Given the description of an element on the screen output the (x, y) to click on. 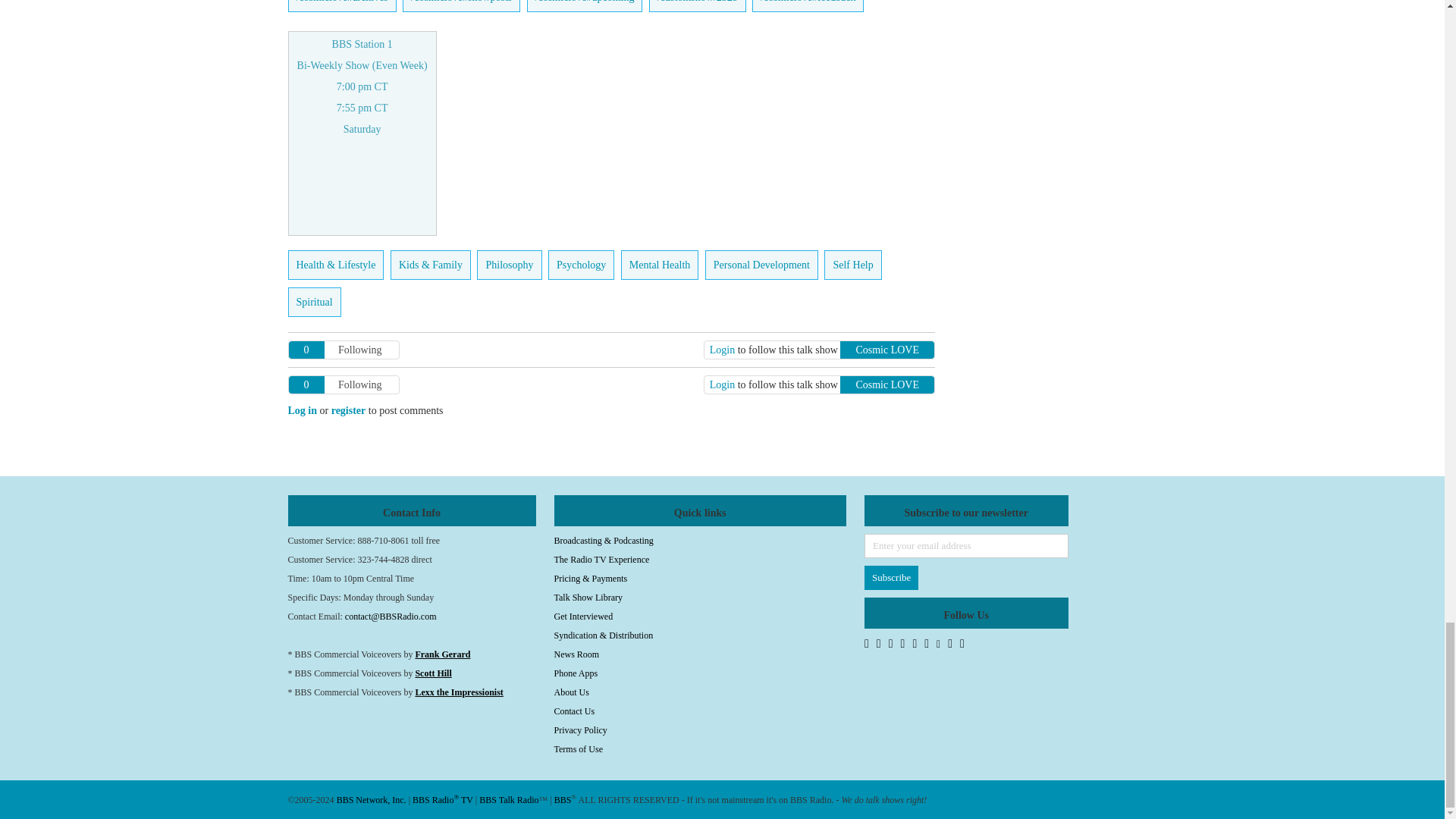
Subscribe (891, 577)
